Given the description of an element on the screen output the (x, y) to click on. 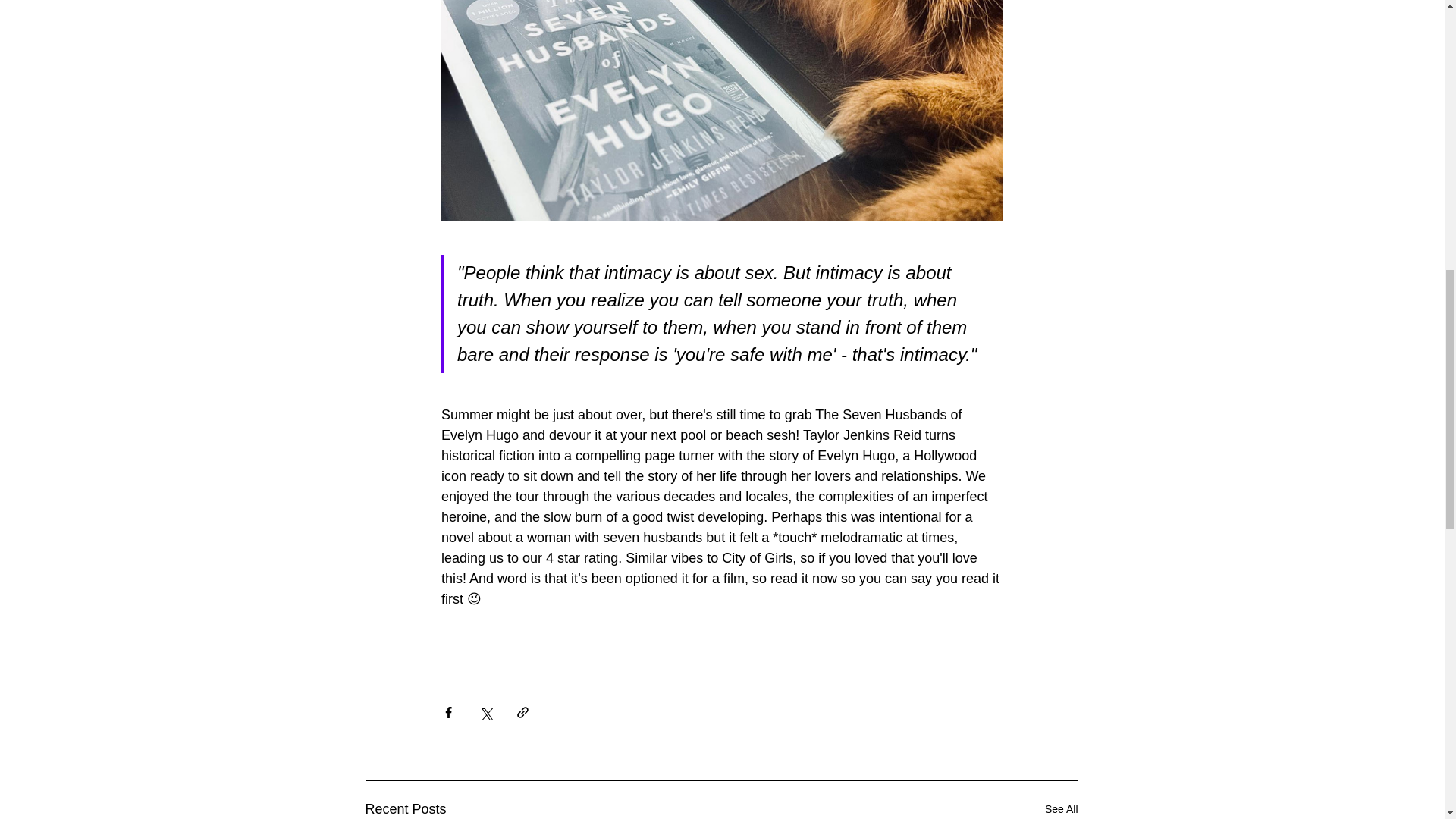
See All (1061, 808)
